Given the description of an element on the screen output the (x, y) to click on. 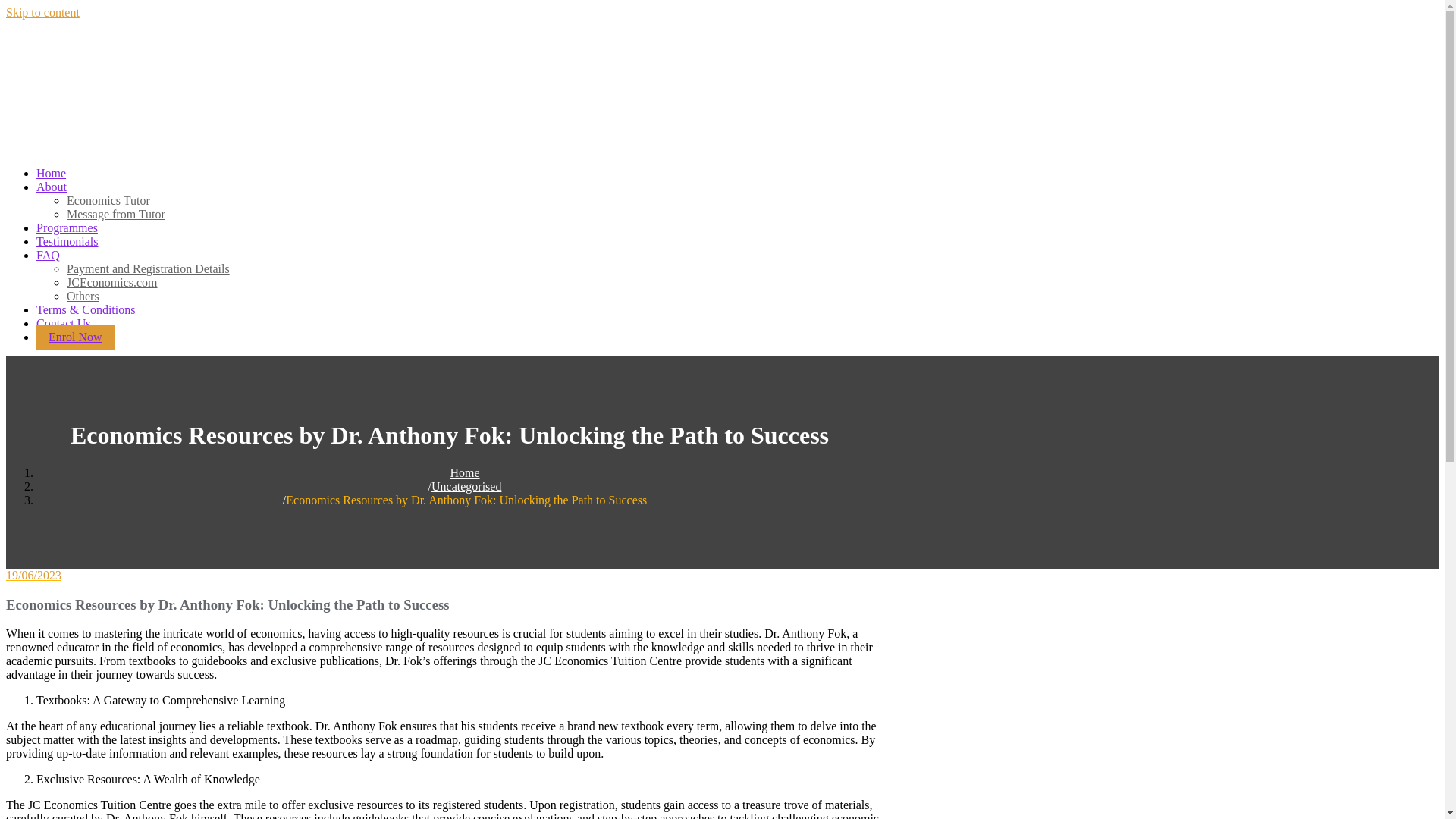
Contact Us (63, 323)
Skip to content (42, 11)
Economics Tutor (107, 200)
FAQ (47, 254)
Programmes (66, 227)
Payment and Registration Details (148, 268)
About (51, 186)
Enrol Now (75, 336)
Others (82, 295)
Testimonials (67, 241)
Home (50, 173)
Uncategorised (465, 486)
JCEconomics.com (111, 282)
Message from Tutor (115, 214)
Home (464, 472)
